Given the description of an element on the screen output the (x, y) to click on. 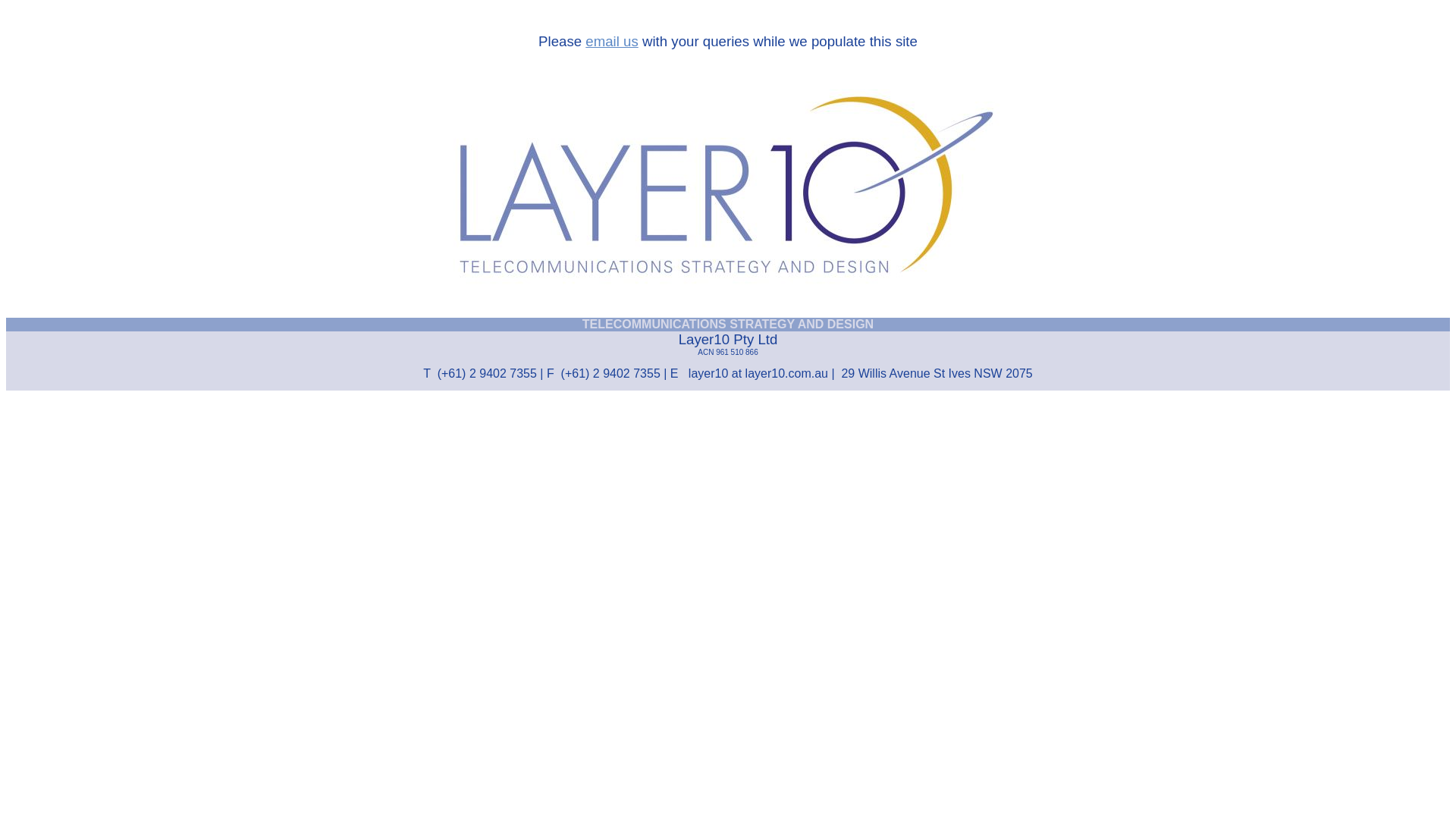
email us Element type: text (611, 41)
